Given the description of an element on the screen output the (x, y) to click on. 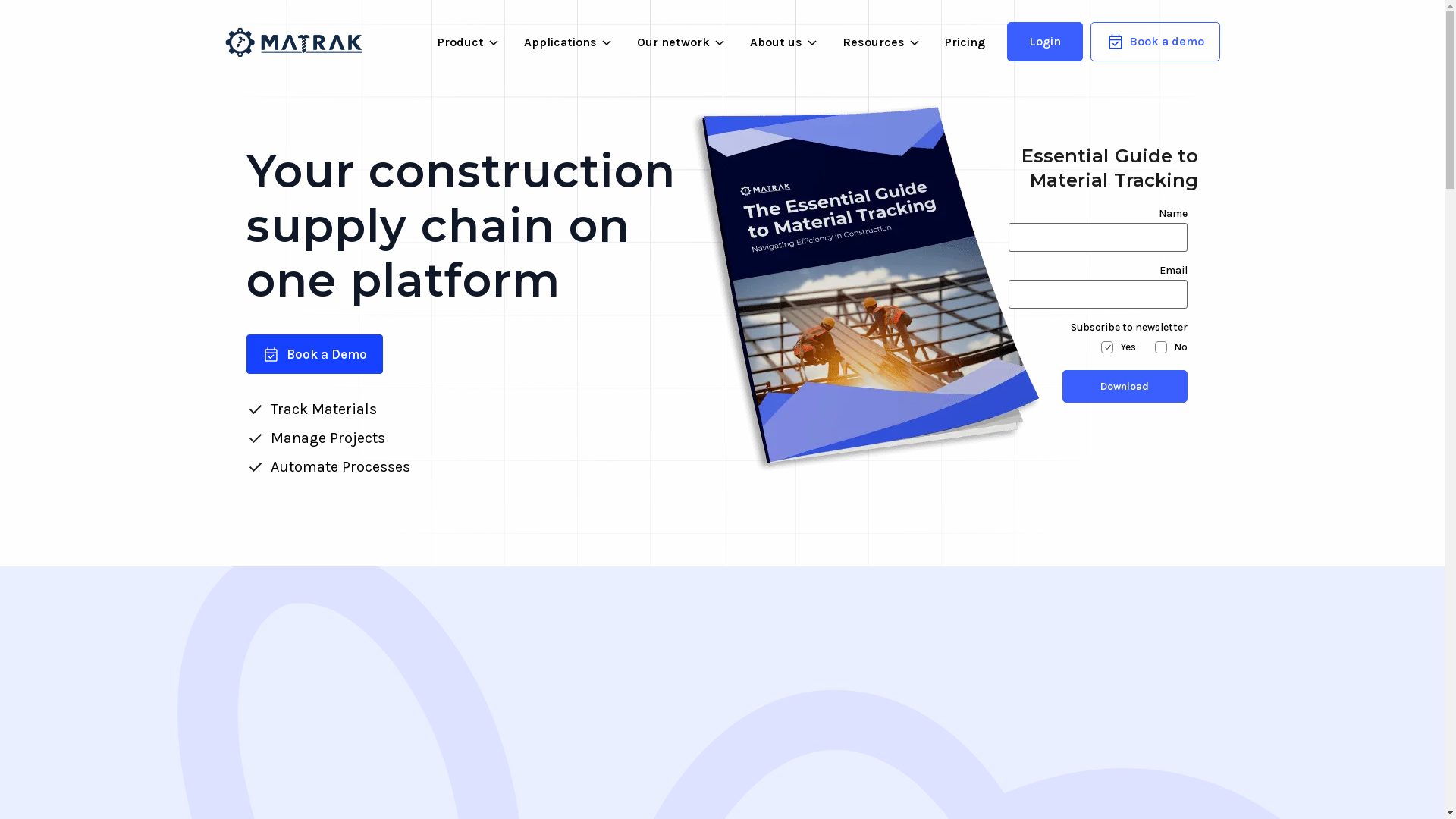
Applications Element type: text (566, 41)
Download Element type: text (1123, 386)
About us Element type: text (782, 41)
Matrak Element type: hover (293, 41)
Our network Element type: text (680, 41)
Book a Demo Element type: text (313, 353)
Pricing Element type: text (964, 41)
Book a demo Element type: text (1155, 41)
Resources Element type: text (879, 41)
Login Element type: text (1044, 41)
Product Element type: text (466, 41)
